Given the description of an element on the screen output the (x, y) to click on. 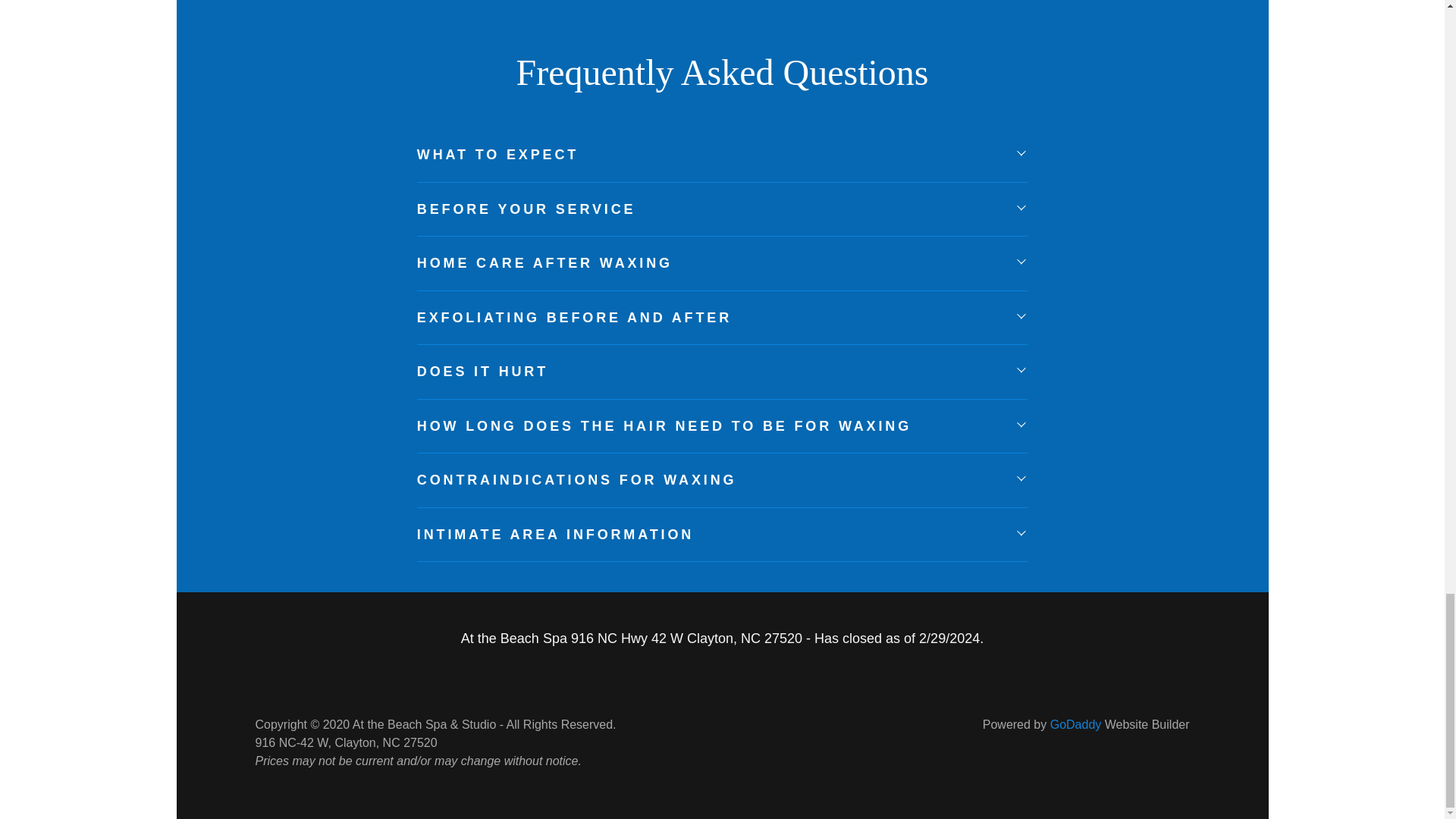
WHAT TO EXPECT (721, 154)
HOME CARE AFTER WAXING (721, 263)
EXFOLIATING BEFORE AND AFTER (721, 317)
CONTRAINDICATIONS FOR WAXING (721, 480)
HOW LONG DOES THE HAIR NEED TO BE FOR WAXING (721, 426)
BEFORE YOUR SERVICE (721, 209)
GoDaddy (1075, 724)
DOES IT HURT (721, 371)
INTIMATE AREA INFORMATION (721, 534)
